Given the description of an element on the screen output the (x, y) to click on. 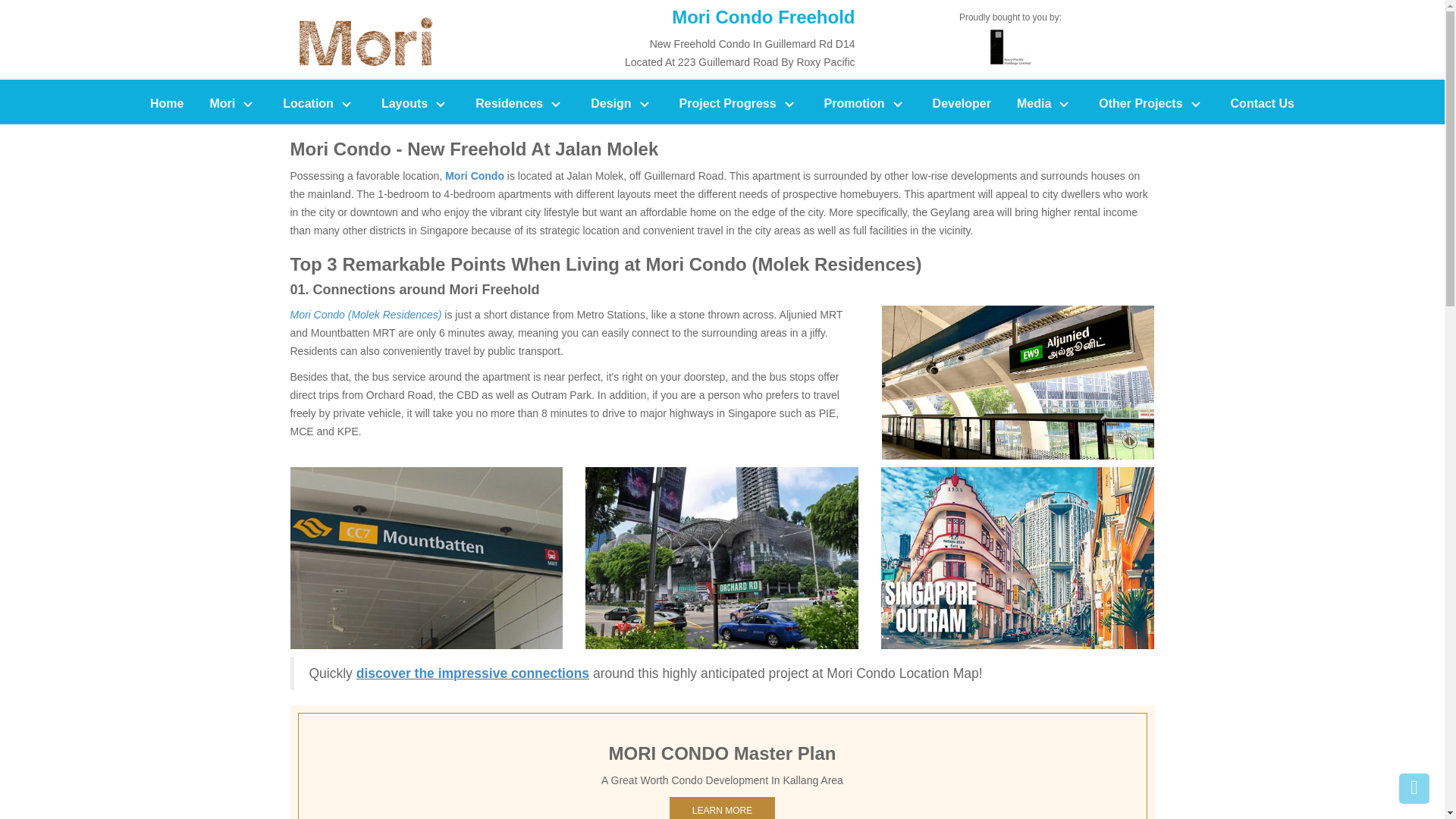
Design (621, 103)
Home (166, 103)
Mori (232, 103)
Location (318, 103)
Residences (520, 103)
Layouts (415, 103)
